Given the description of an element on the screen output the (x, y) to click on. 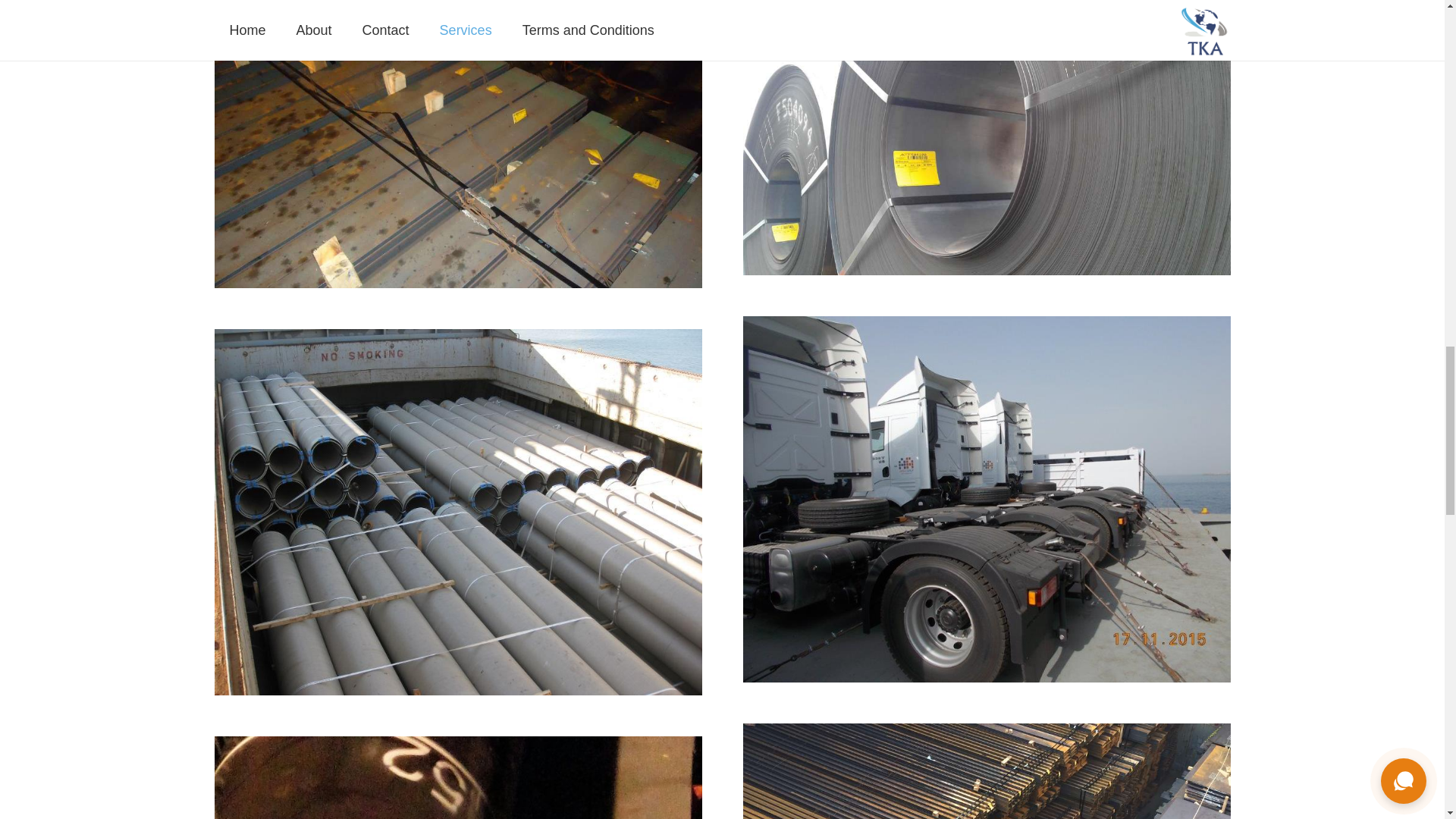
s8 (457, 152)
s5 (986, 771)
s4 (457, 777)
s9 (986, 140)
